Given the description of an element on the screen output the (x, y) to click on. 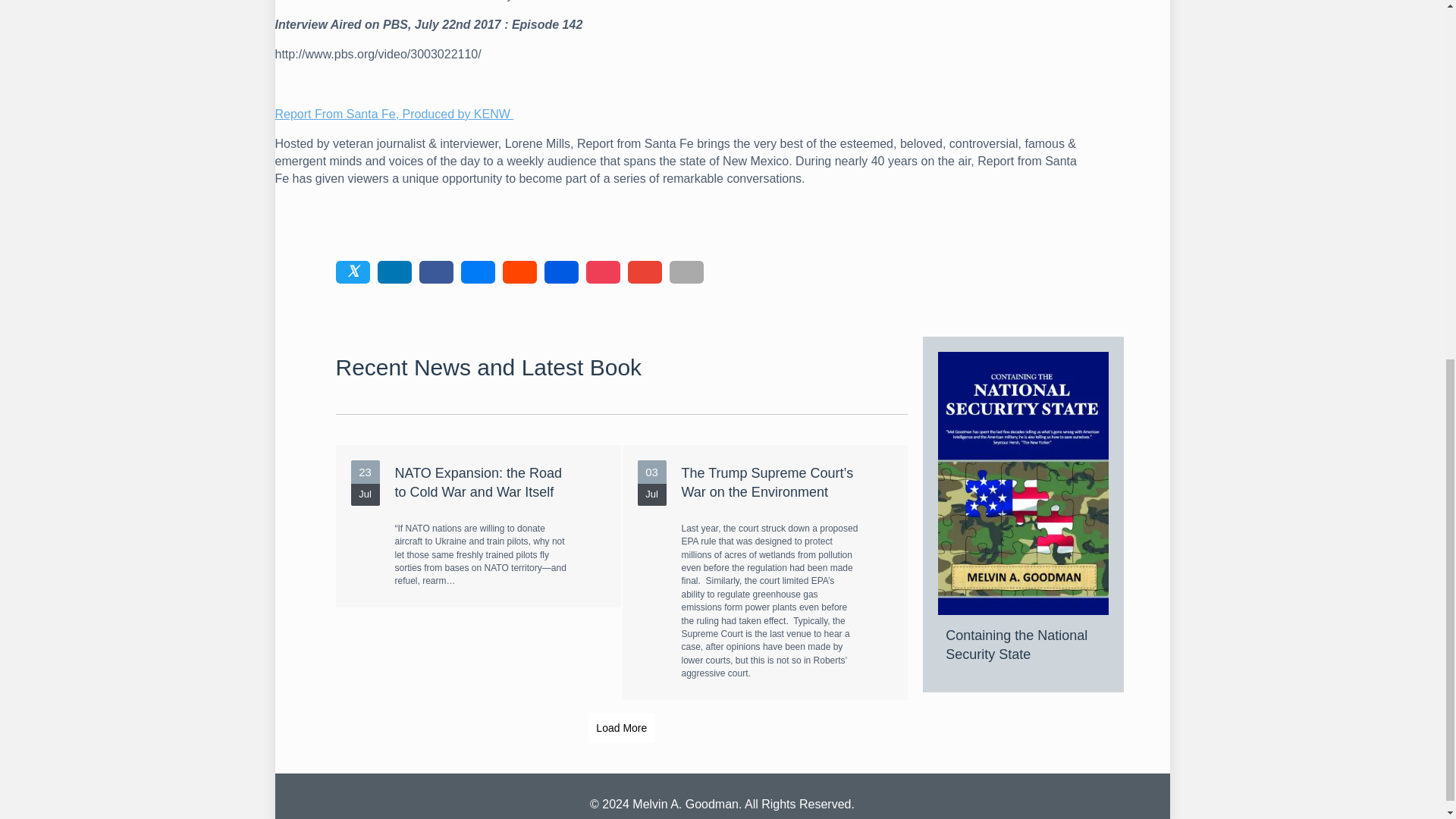
Report From Santa Fe, Produced by KENW  (394, 113)
NATO Expansion: the Road to Cold War and War Itself (477, 526)
